Given the description of an element on the screen output the (x, y) to click on. 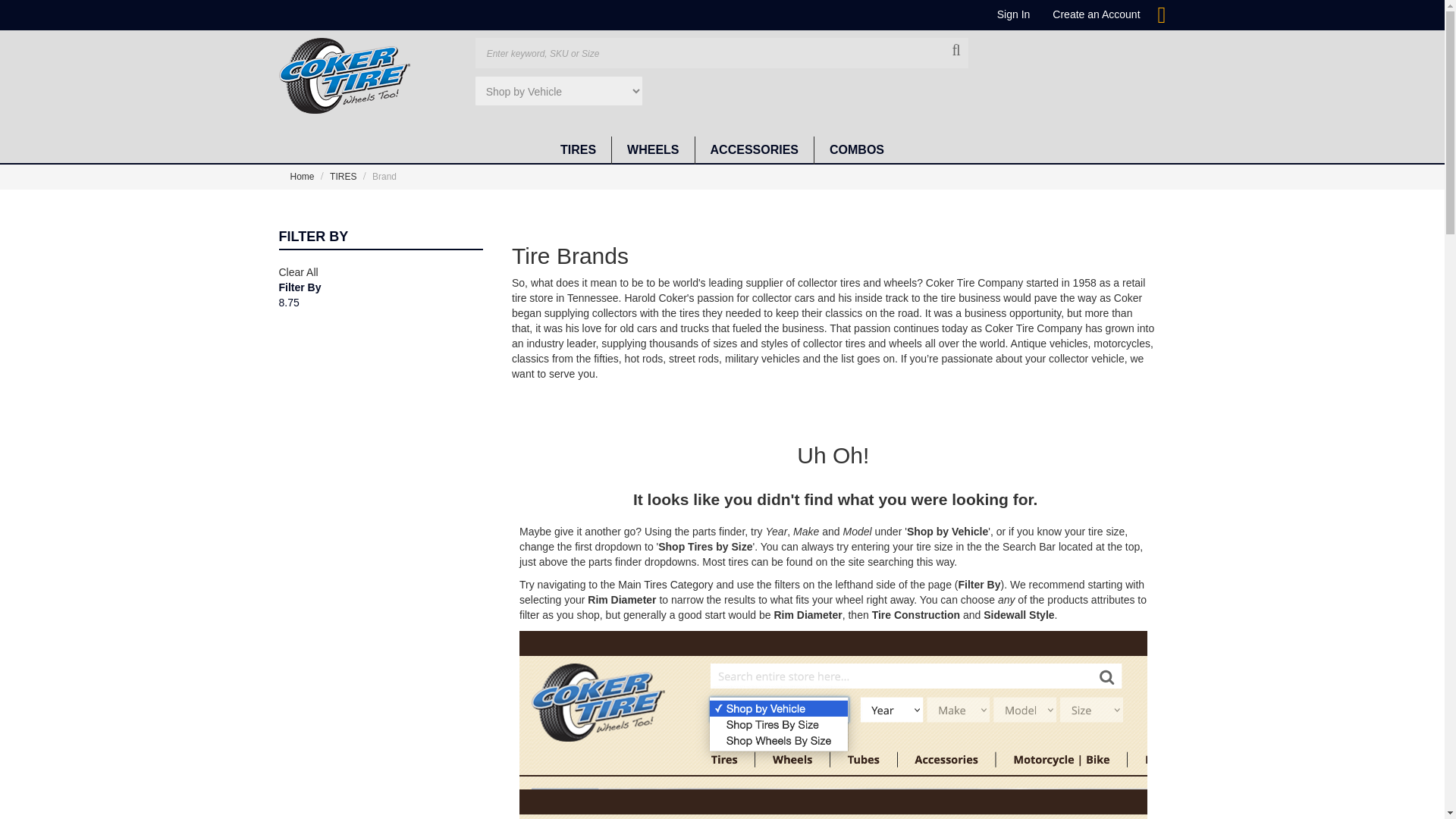
Search (956, 50)
Coker Tire Company (344, 75)
Coker Tire Main Category (665, 584)
Sign In (1013, 14)
TIRES (577, 150)
Go to Home Page (302, 176)
Create an Account (1096, 14)
